Given the description of an element on the screen output the (x, y) to click on. 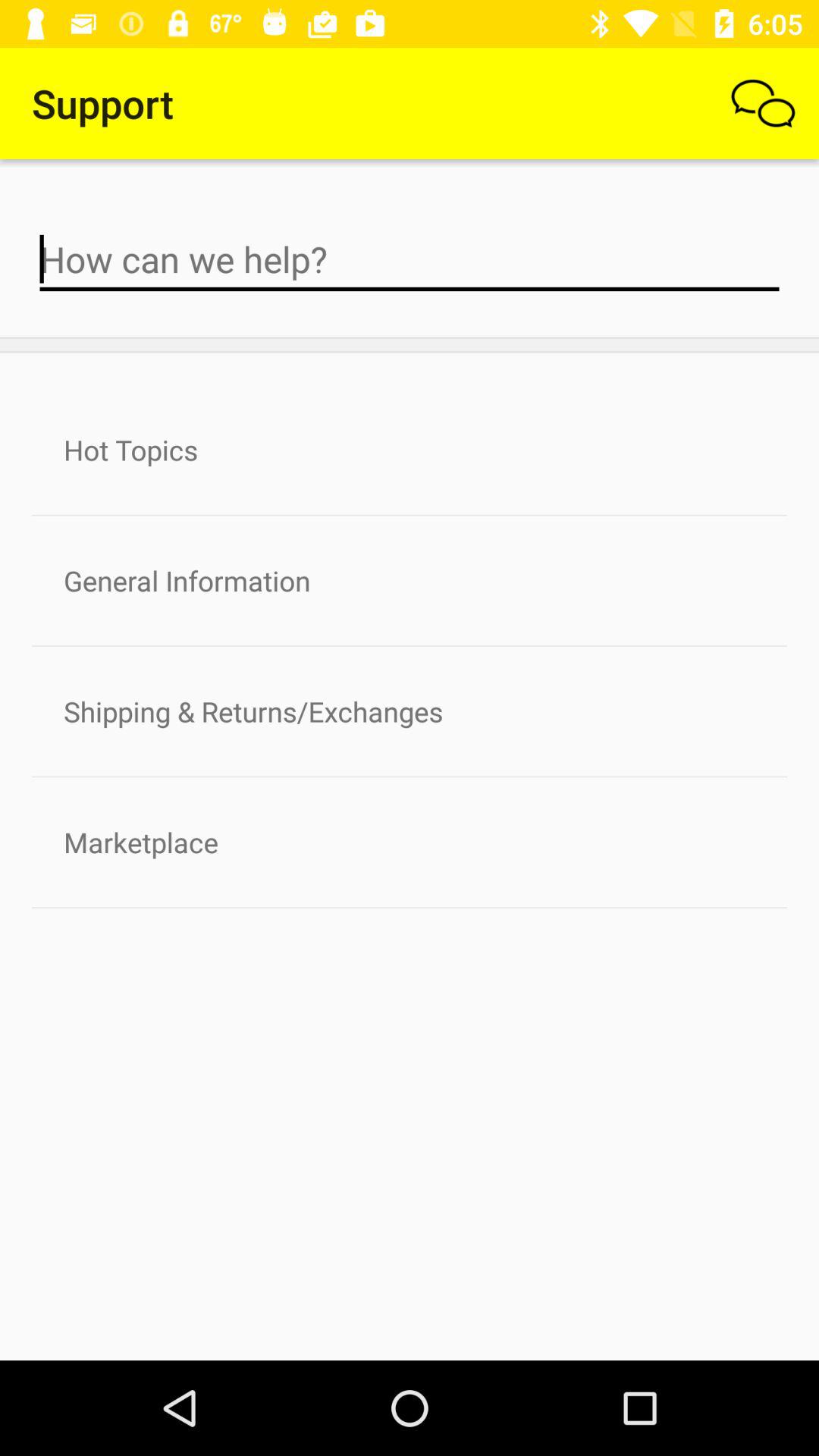
open icon next to the support (763, 103)
